Given the description of an element on the screen output the (x, y) to click on. 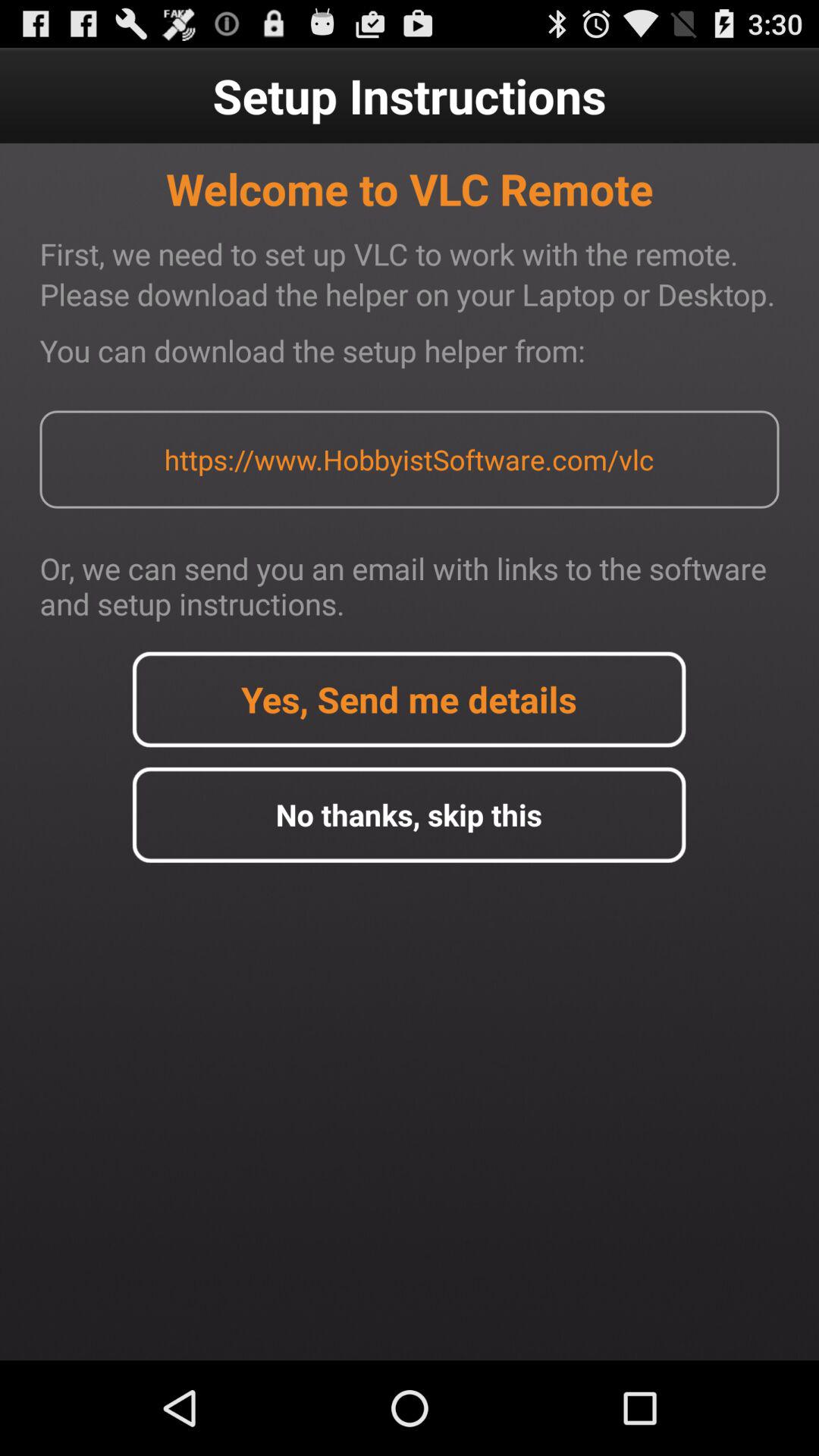
select item below the you can download item (409, 459)
